Given the description of an element on the screen output the (x, y) to click on. 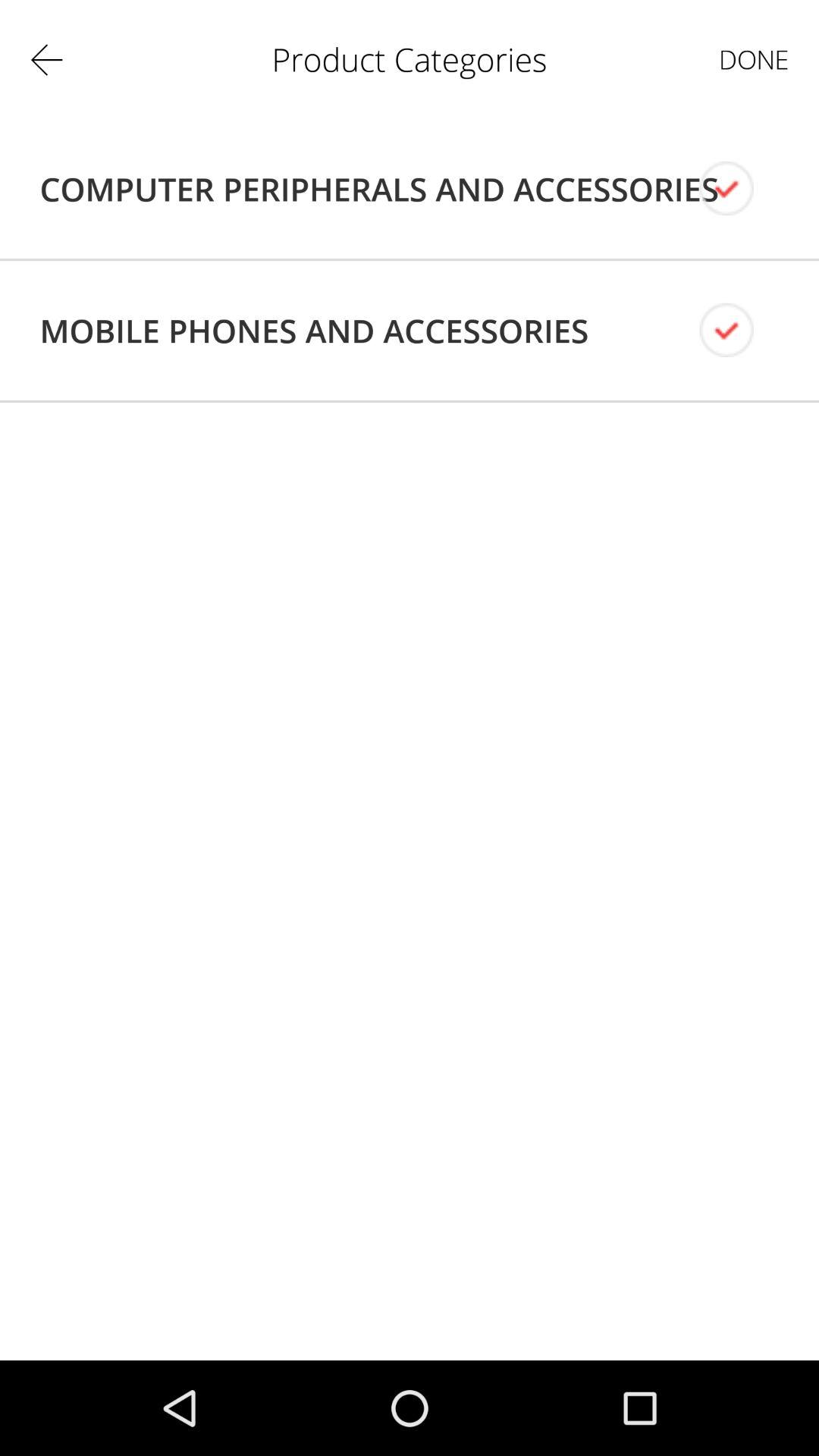
view product category (739, 188)
